Given the description of an element on the screen output the (x, y) to click on. 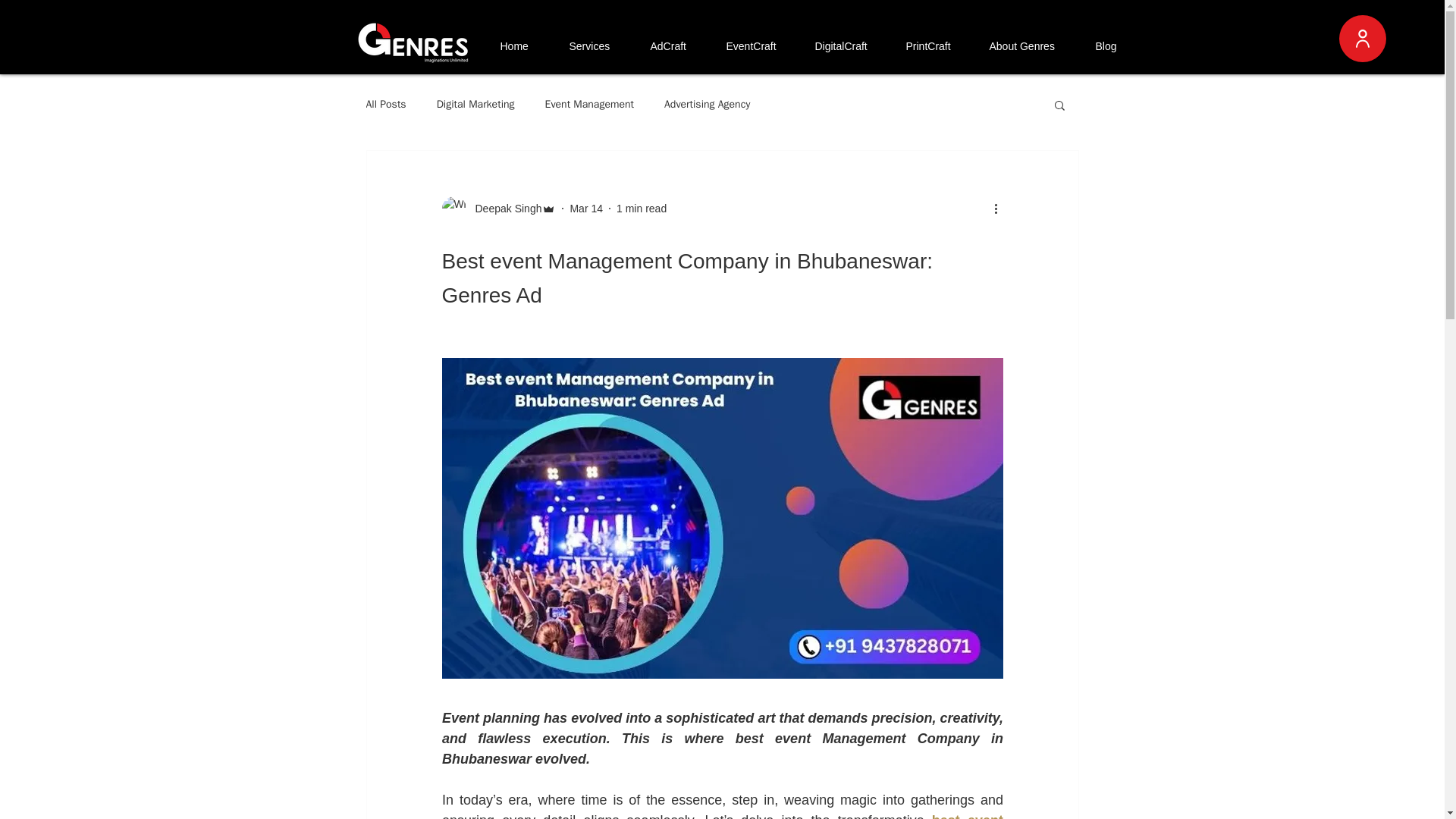
Deepak Singh (503, 207)
Advertising Agency (706, 104)
Mar 14 (585, 207)
Digital Marketing (475, 104)
Services (596, 46)
AdCraft (676, 46)
Event Management (588, 104)
Blog (1113, 46)
1 min read (640, 207)
All Posts (385, 104)
PrintCraft (934, 46)
Deepak Singh (498, 208)
Home (521, 46)
About Genres (1029, 46)
EventCraft (758, 46)
